Given the description of an element on the screen output the (x, y) to click on. 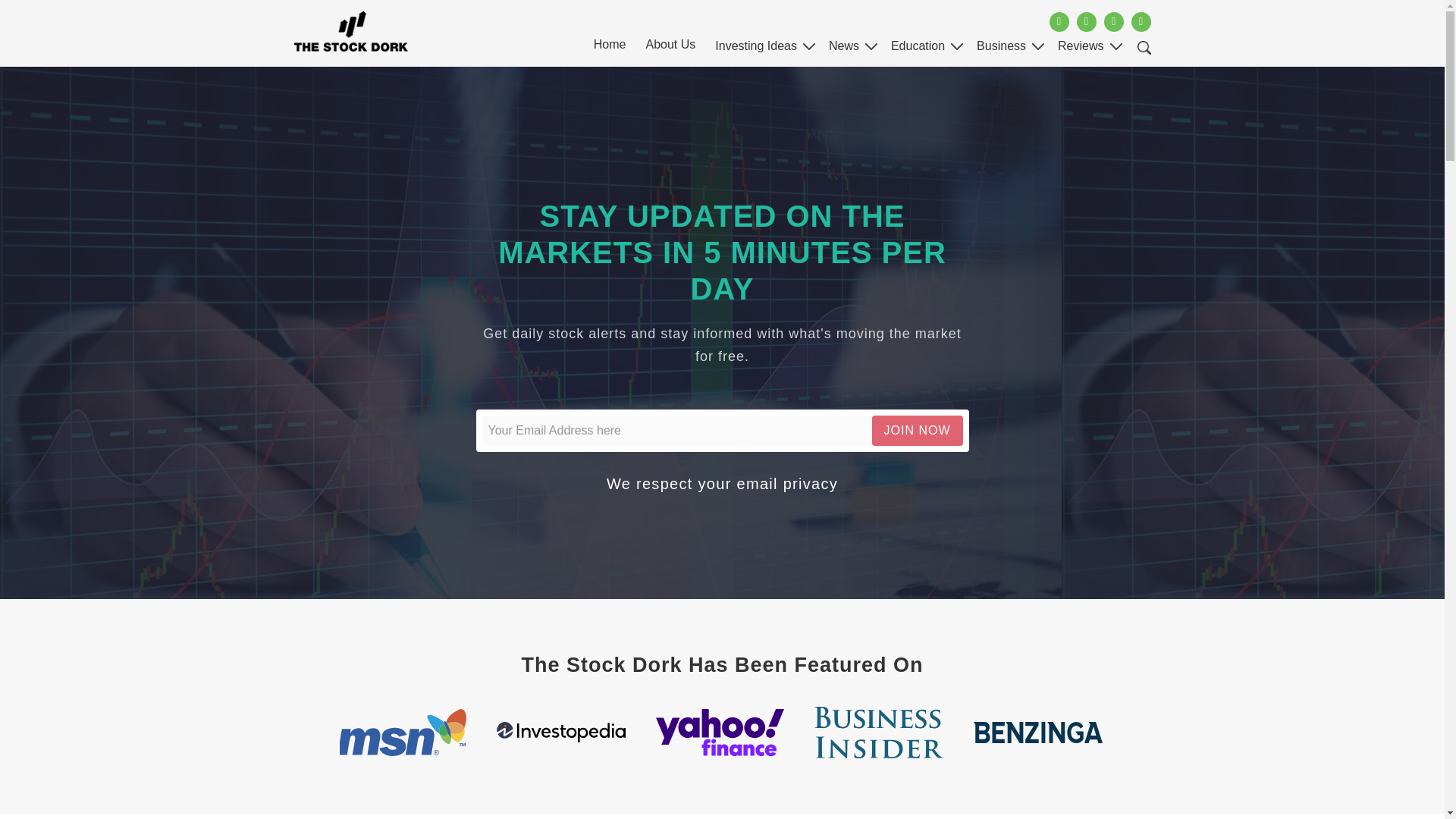
Business (1001, 50)
Education (917, 50)
email privacy (787, 483)
Privacy Policy (787, 483)
News (843, 50)
Join Now (917, 430)
Home (609, 48)
Reviews (1080, 50)
Join Now (917, 430)
About Us (670, 48)
Investing Ideas (756, 50)
